Given the description of an element on the screen output the (x, y) to click on. 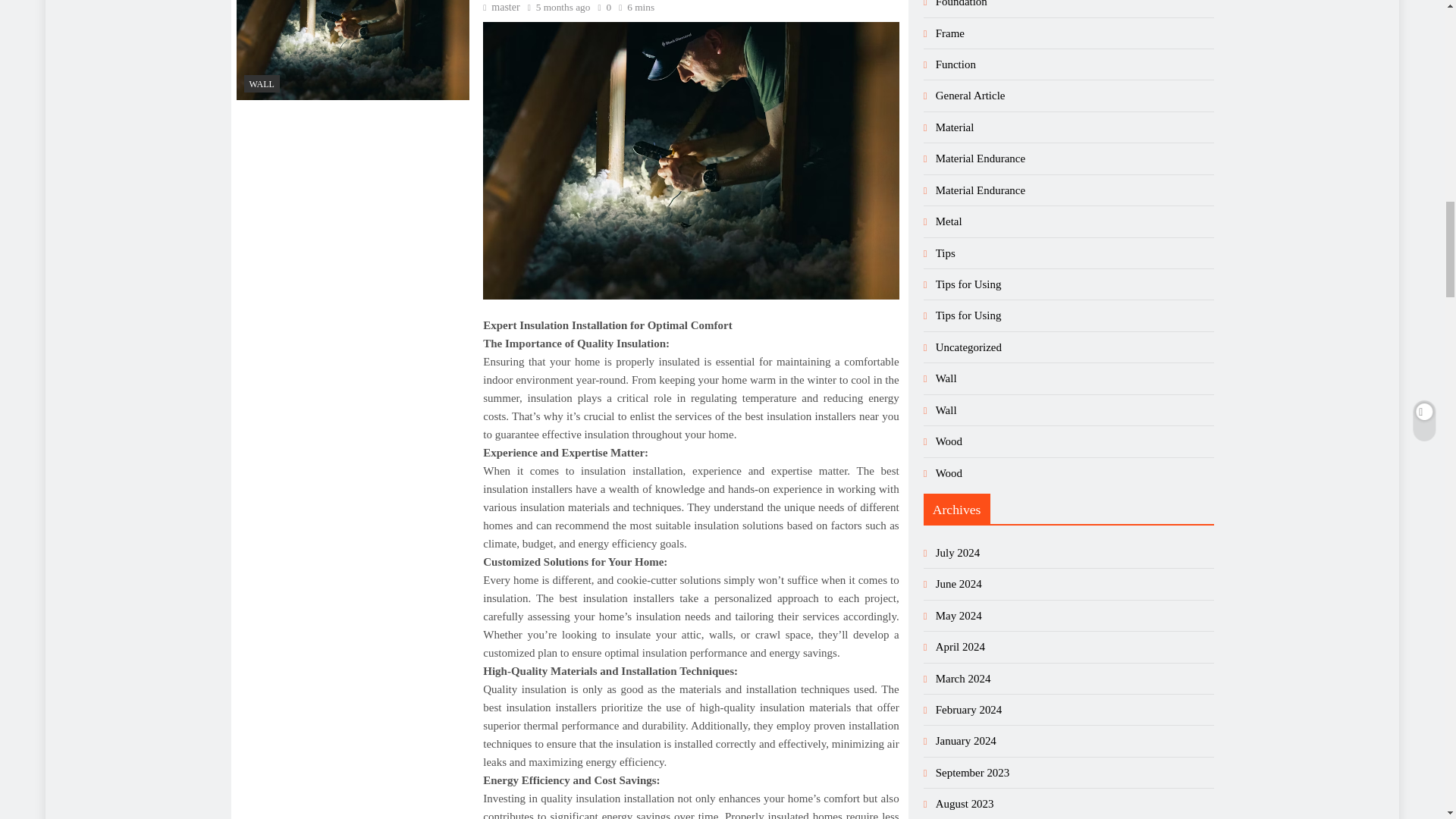
WALL (261, 83)
master (501, 7)
5 months ago (563, 7)
